Given the description of an element on the screen output the (x, y) to click on. 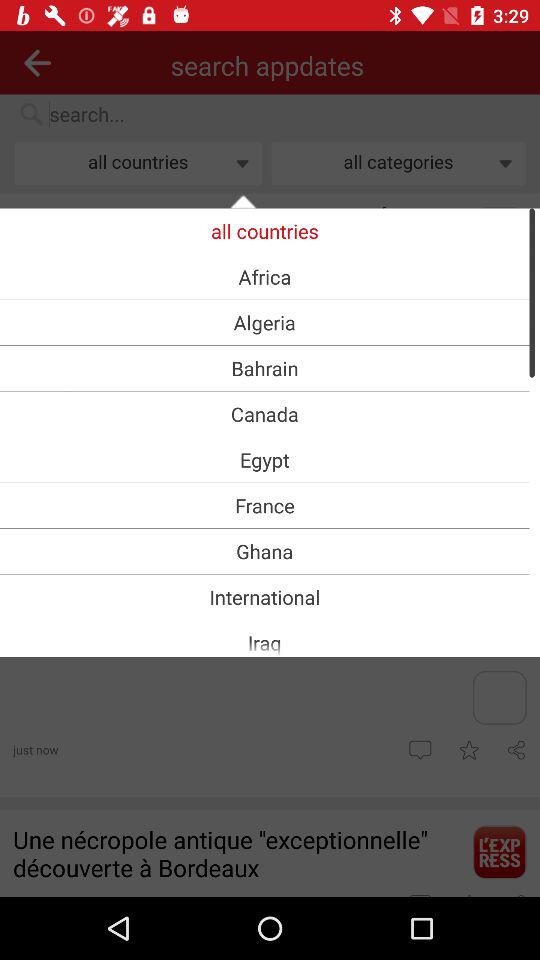
tap item at the bottom (264, 642)
